Given the description of an element on the screen output the (x, y) to click on. 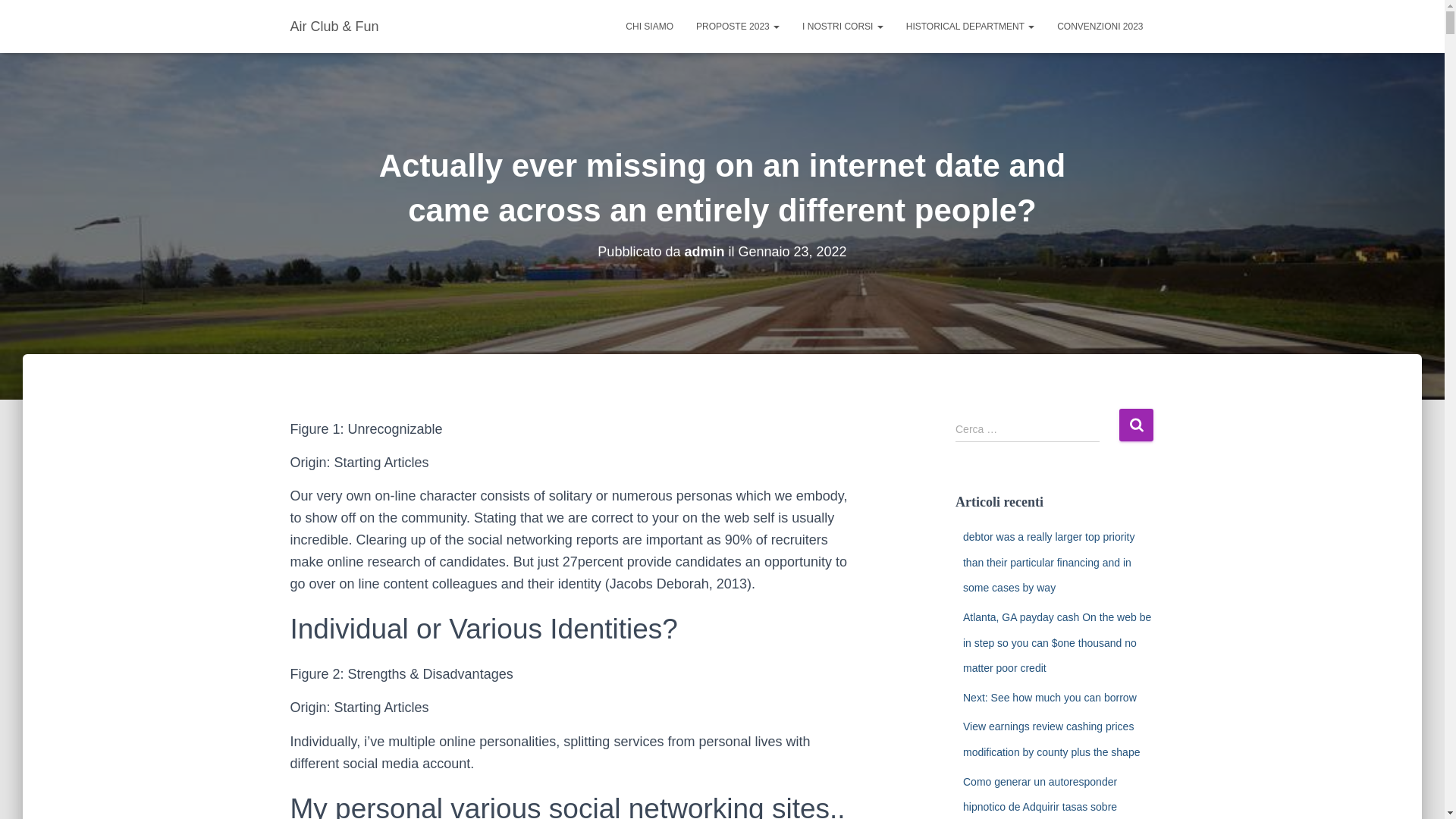
CONVENZIONI 2023 (1099, 26)
CHI SIAMO (649, 26)
I NOSTRI CORSI (842, 26)
Cerca (1136, 424)
Cerca (1136, 424)
I Nostri Corsi (842, 26)
Proposte 2023 (737, 26)
HISTORICAL DEPARTMENT (970, 26)
CONVENZIONI 2023 (1099, 26)
Next: See how much you can borrow (1049, 697)
admin (703, 251)
PROPOSTE 2023 (737, 26)
Cerca (1136, 424)
